Given the description of an element on the screen output the (x, y) to click on. 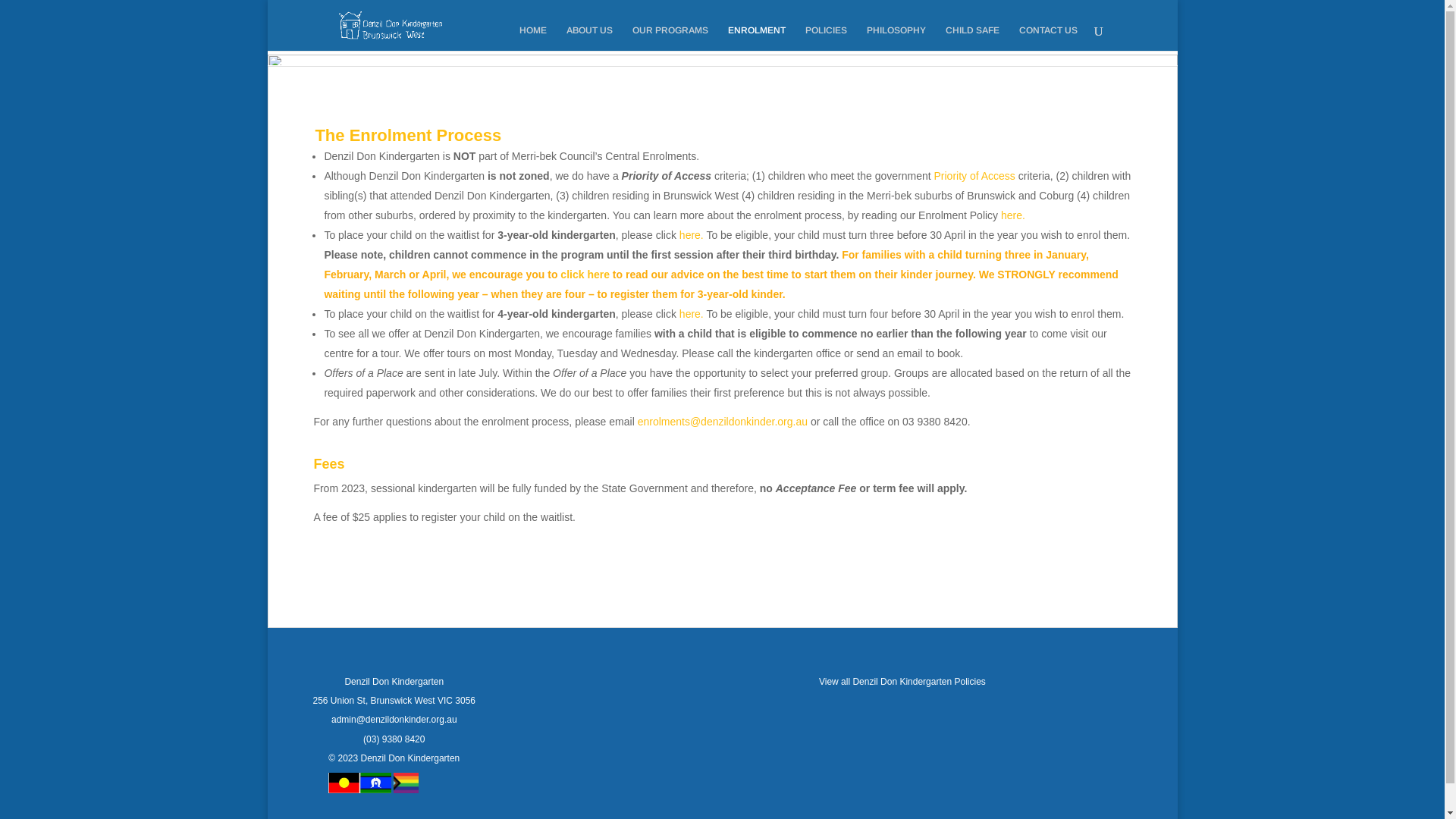
ENROLMENT Element type: text (756, 37)
OUR PROGRAMS Element type: text (670, 37)
here. Element type: text (1013, 215)
here. Element type: text (691, 235)
CONTACT US Element type: text (1048, 37)
View all Denzil Don Kindergarten Policies Element type: text (902, 681)
POLICIES Element type: text (826, 37)
click here Element type: text (584, 274)
HOME Element type: text (532, 37)
PHILOSOPHY Element type: text (895, 37)
CHILD SAFE Element type: text (971, 37)
Priority of Access Element type: text (974, 175)
here. Element type: text (691, 313)
ABOUT US Element type: text (588, 37)
enrolments@denzildonkinder.org.au Element type: text (722, 421)
